Given the description of an element on the screen output the (x, y) to click on. 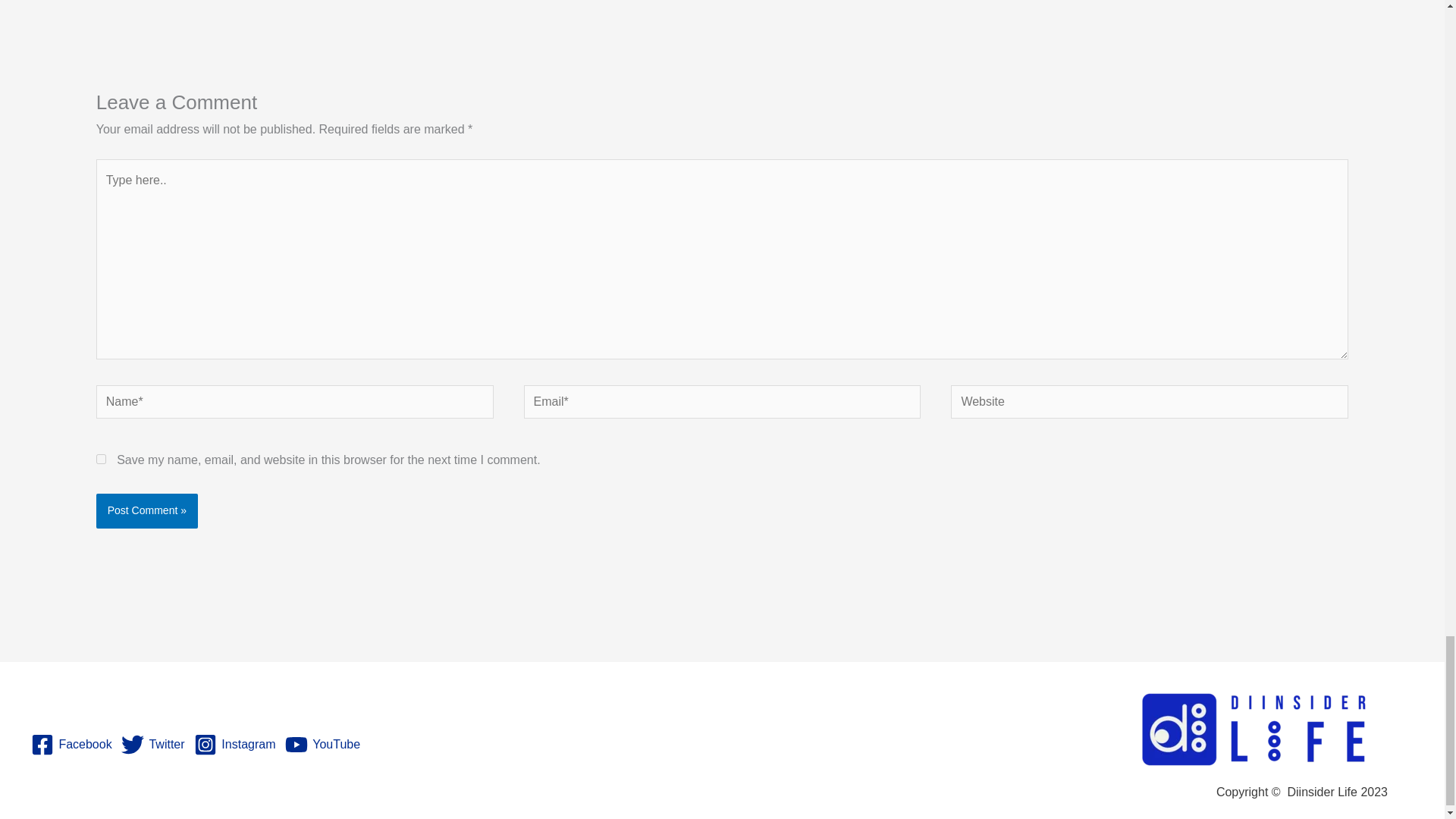
yes (101, 459)
